Given the description of an element on the screen output the (x, y) to click on. 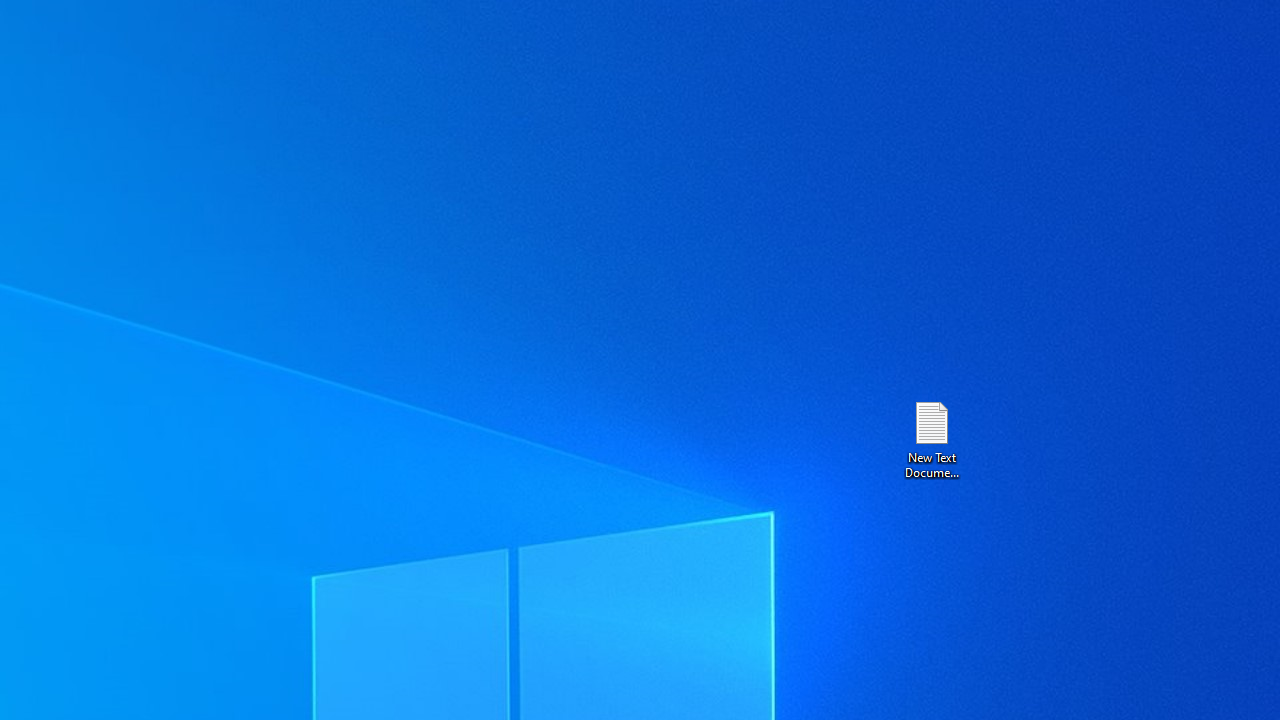
New Text Document (2) (931, 438)
